Given the description of an element on the screen output the (x, y) to click on. 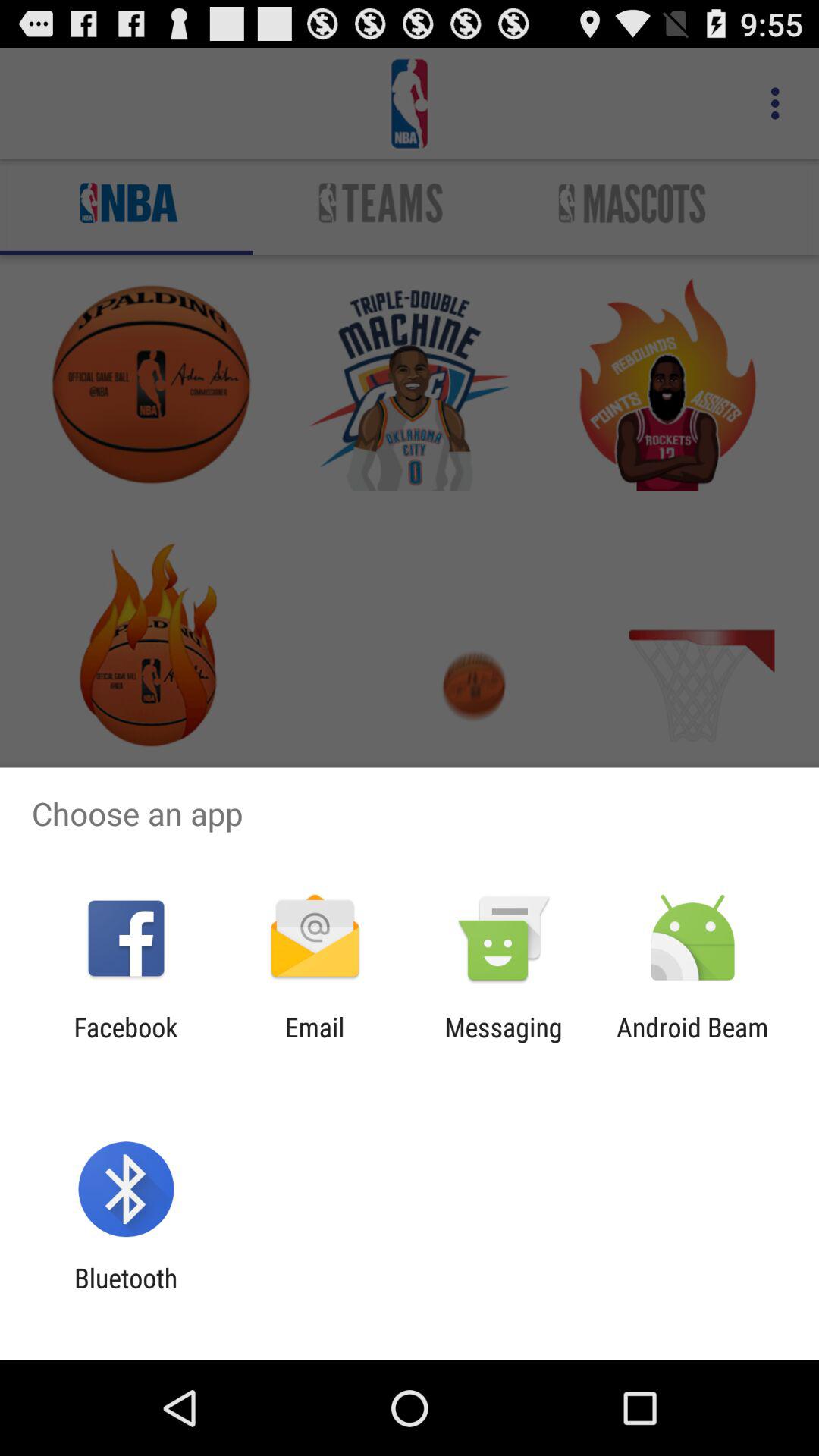
open the app next to the messaging app (692, 1042)
